Given the description of an element on the screen output the (x, y) to click on. 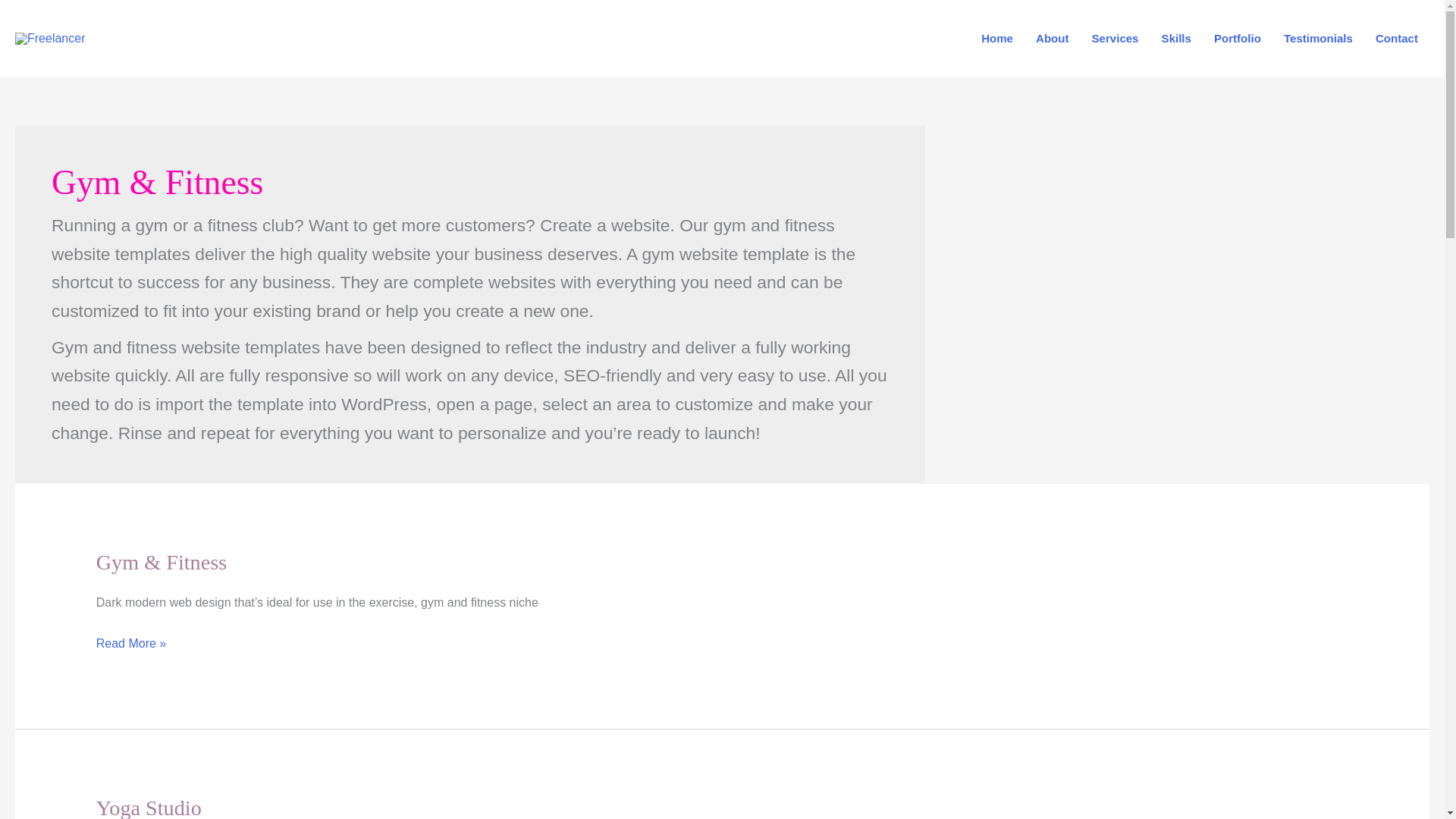
Contact (1396, 38)
Services (1115, 38)
About (1052, 38)
Yoga Studio (149, 807)
Skills (1176, 38)
Portfolio (1237, 38)
Testimonials (1318, 38)
Home (997, 38)
